Given the description of an element on the screen output the (x, y) to click on. 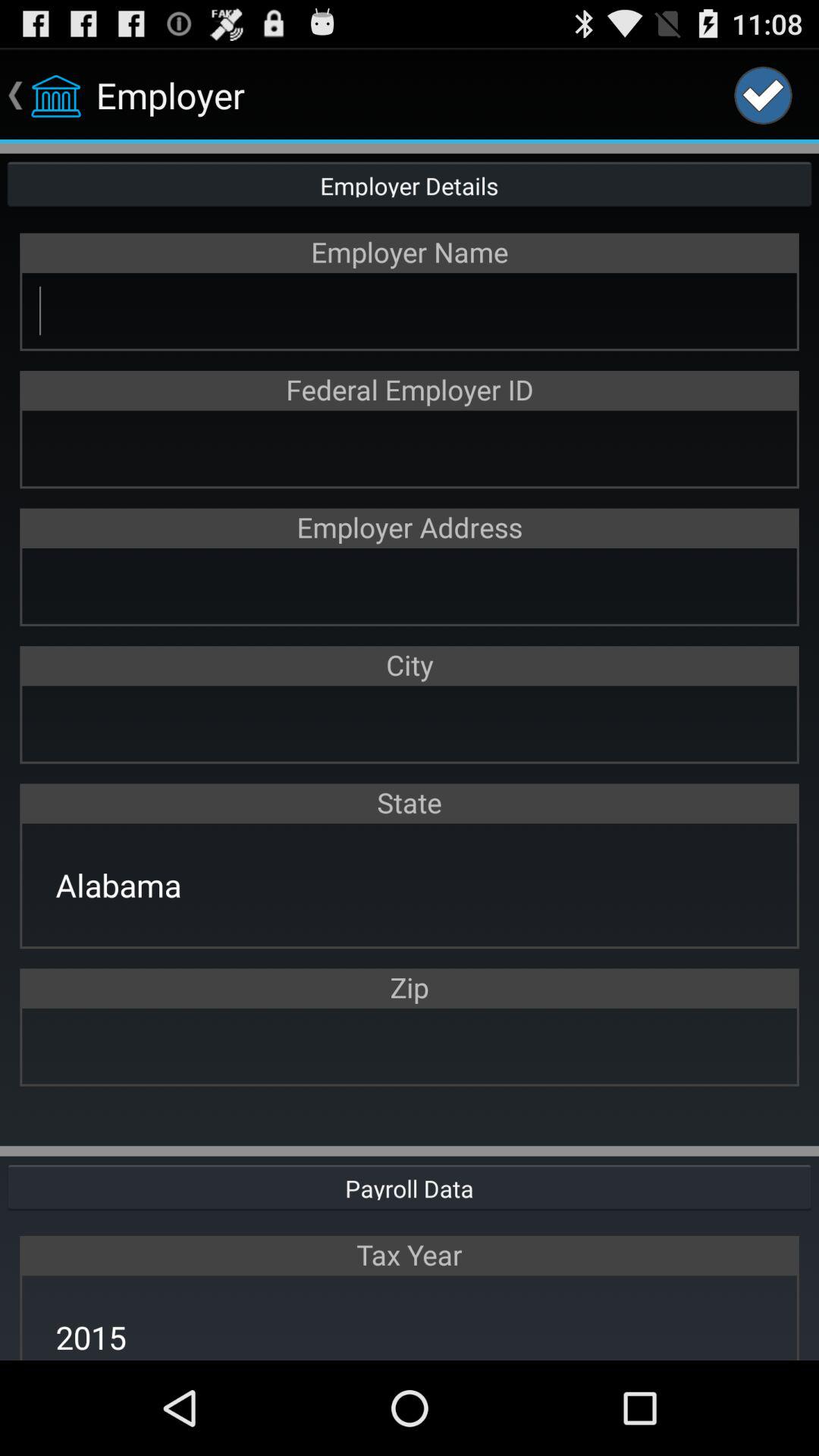
enter address (409, 586)
